Given the description of an element on the screen output the (x, y) to click on. 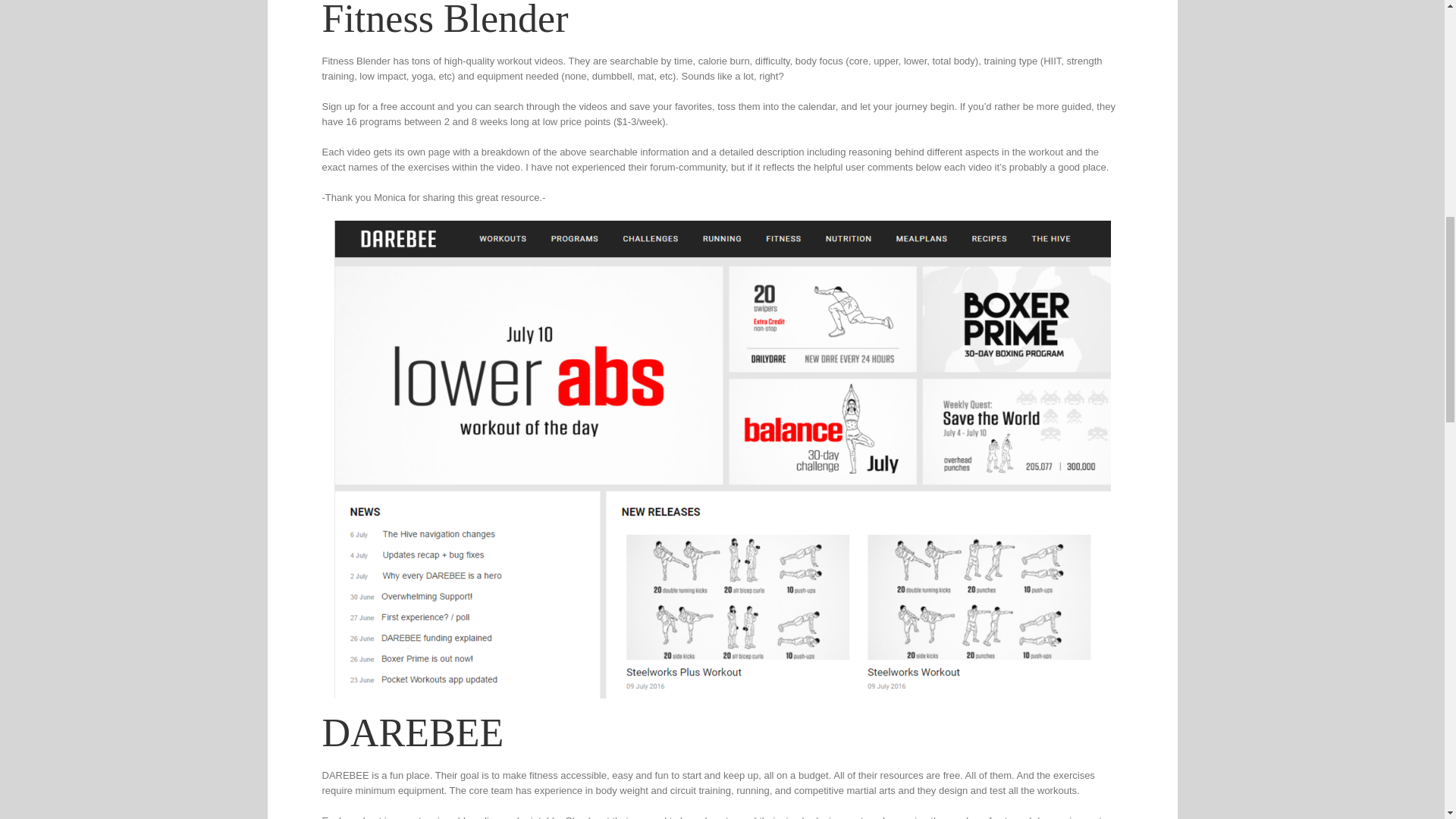
Fitness Blender (444, 20)
DAREBEE  (417, 732)
